Given the description of an element on the screen output the (x, y) to click on. 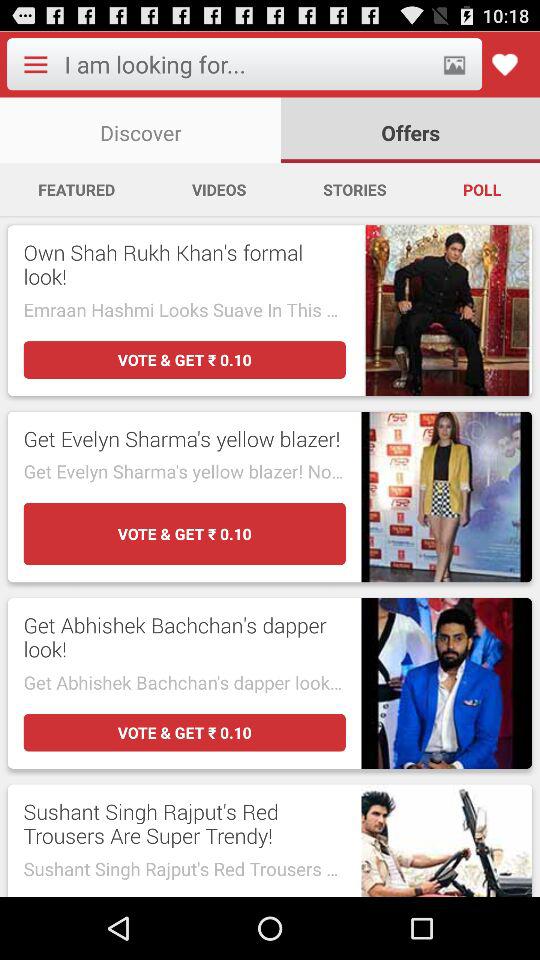
enable favorite (504, 64)
